Given the description of an element on the screen output the (x, y) to click on. 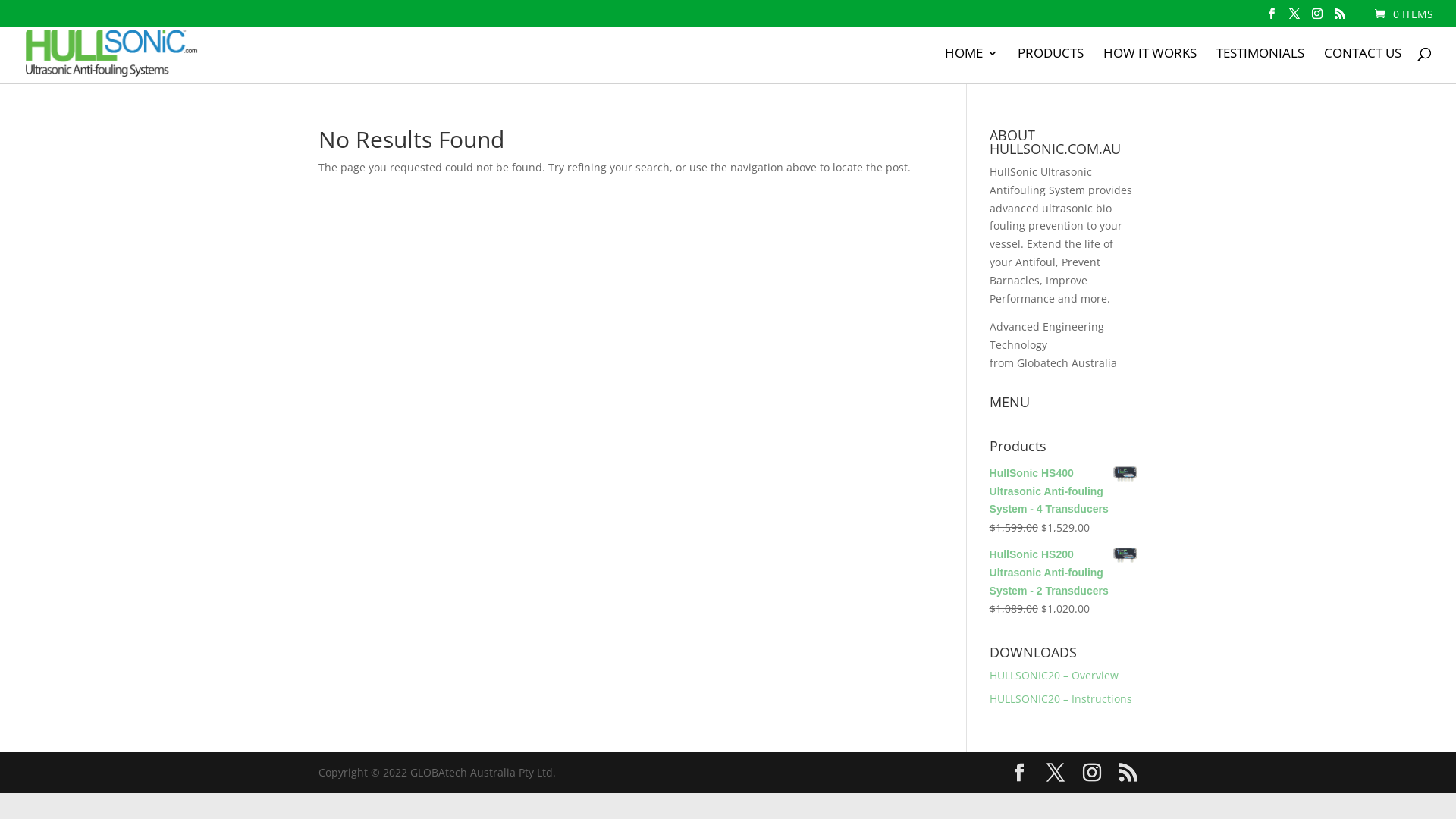
PRODUCTS Element type: text (1050, 65)
TESTIMONIALS Element type: text (1260, 65)
HOW IT WORKS Element type: text (1149, 65)
HOME Element type: text (970, 65)
0 ITEMS Element type: text (1402, 13)
CONTACT US Element type: text (1362, 65)
